Given the description of an element on the screen output the (x, y) to click on. 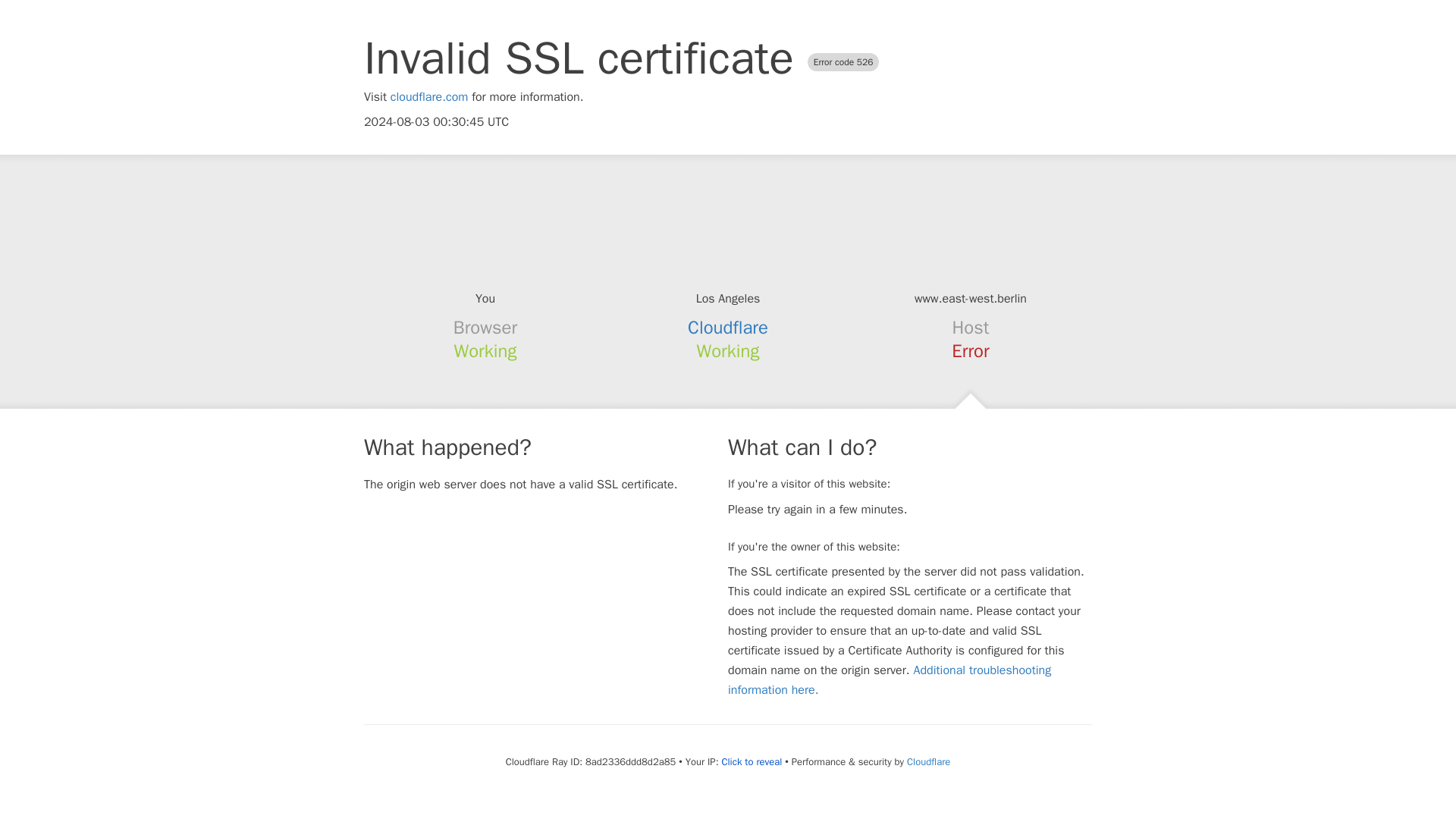
cloudflare.com (429, 96)
Click to reveal (750, 762)
Additional troubleshooting information here. (889, 679)
Cloudflare (727, 327)
Cloudflare (928, 761)
